Given the description of an element on the screen output the (x, y) to click on. 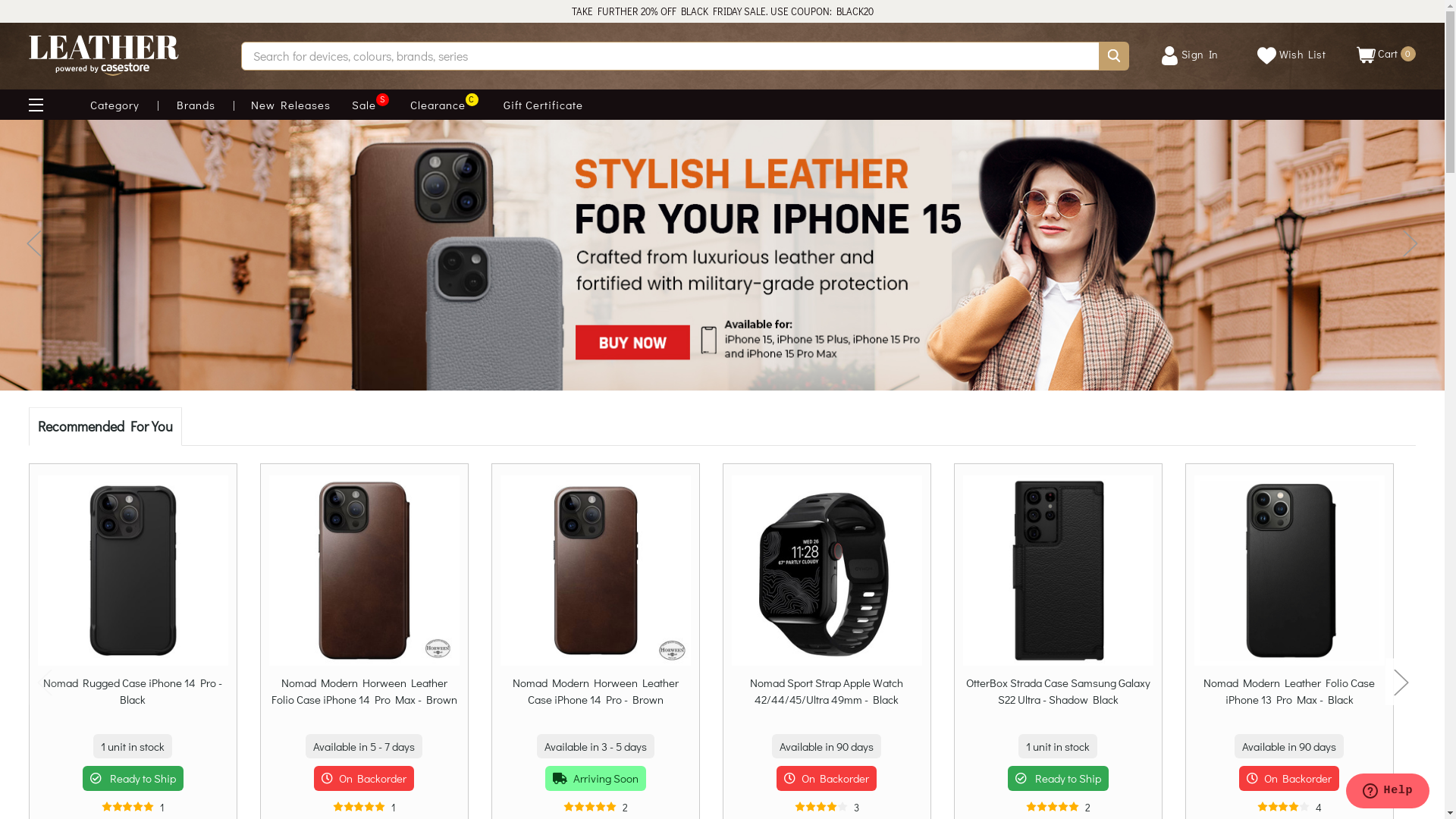
Category Element type: text (114, 104)
Nomad Rugged Case iPhone 14 Pro - Black Element type: text (132, 697)
New Releases Element type: text (290, 104)
Nomad Modern Leather Folio Case iPhone 13 Pro Max - Black Element type: text (1289, 697)
Nomad Modern Horween Leather Case iPhone 14 Pro - Brown Element type: hover (595, 570)
Wish List Element type: text (1290, 55)
Sale
S Element type: text (363, 104)
OtterBox Strada Case Samsung Galaxy S22 Ultra - Shadow Black Element type: hover (1058, 570)
Recommended For You Element type: text (105, 426)
Nomad Modern Horween Leather Case iPhone 14 Pro - Brown Element type: text (595, 697)
Sign In Element type: text (1188, 55)
Previous Element type: text (33, 243)
Next Element type: text (1400, 681)
Clearance
C Element type: text (437, 104)
Leather Case Store Australia Element type: hover (103, 55)
Toggle Menu Element type: text (42, 104)
Previous Element type: text (43, 681)
Gift Certificate Element type: text (543, 104)
Opens a widget where you can chat to one of our agents Element type: hover (1387, 792)
OtterBox Strada Case Samsung Galaxy S22 Ultra - Shadow Black Element type: text (1058, 697)
Nomad Sport Strap Apple Watch 42/44/45/Ultra 49mm - Black Element type: text (826, 697)
Cart 0 Element type: text (1385, 58)
Nomad Rugged Case iPhone 14 Pro - Black Element type: hover (132, 570)
Brands Element type: text (195, 104)
Nomad Modern Leather Folio Case iPhone 13 Pro - Black Element type: hover (1289, 570)
Nomad Sport Strap Apple Watch 42/44/45/Ultra 49mm - Black Element type: hover (826, 570)
Next Element type: text (1410, 243)
